Given the description of an element on the screen output the (x, y) to click on. 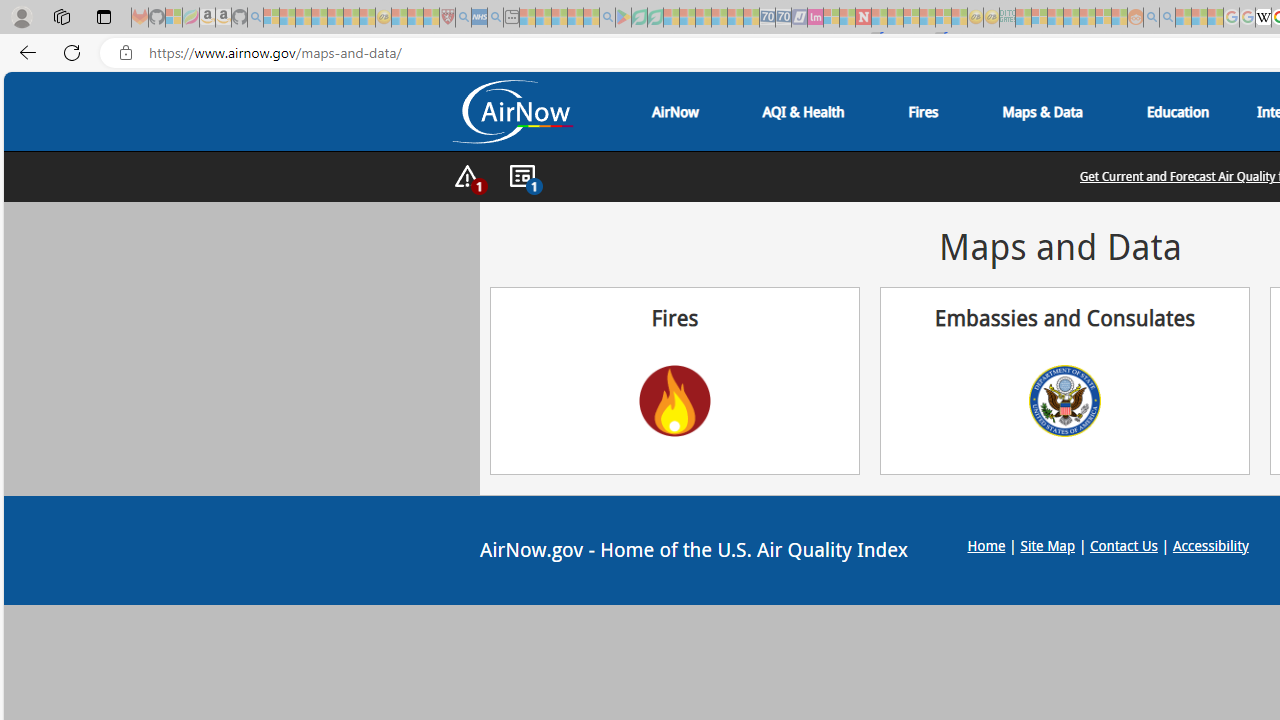
Embassies and Consulates US Department of State Seal (1065, 380)
